Given the description of an element on the screen output the (x, y) to click on. 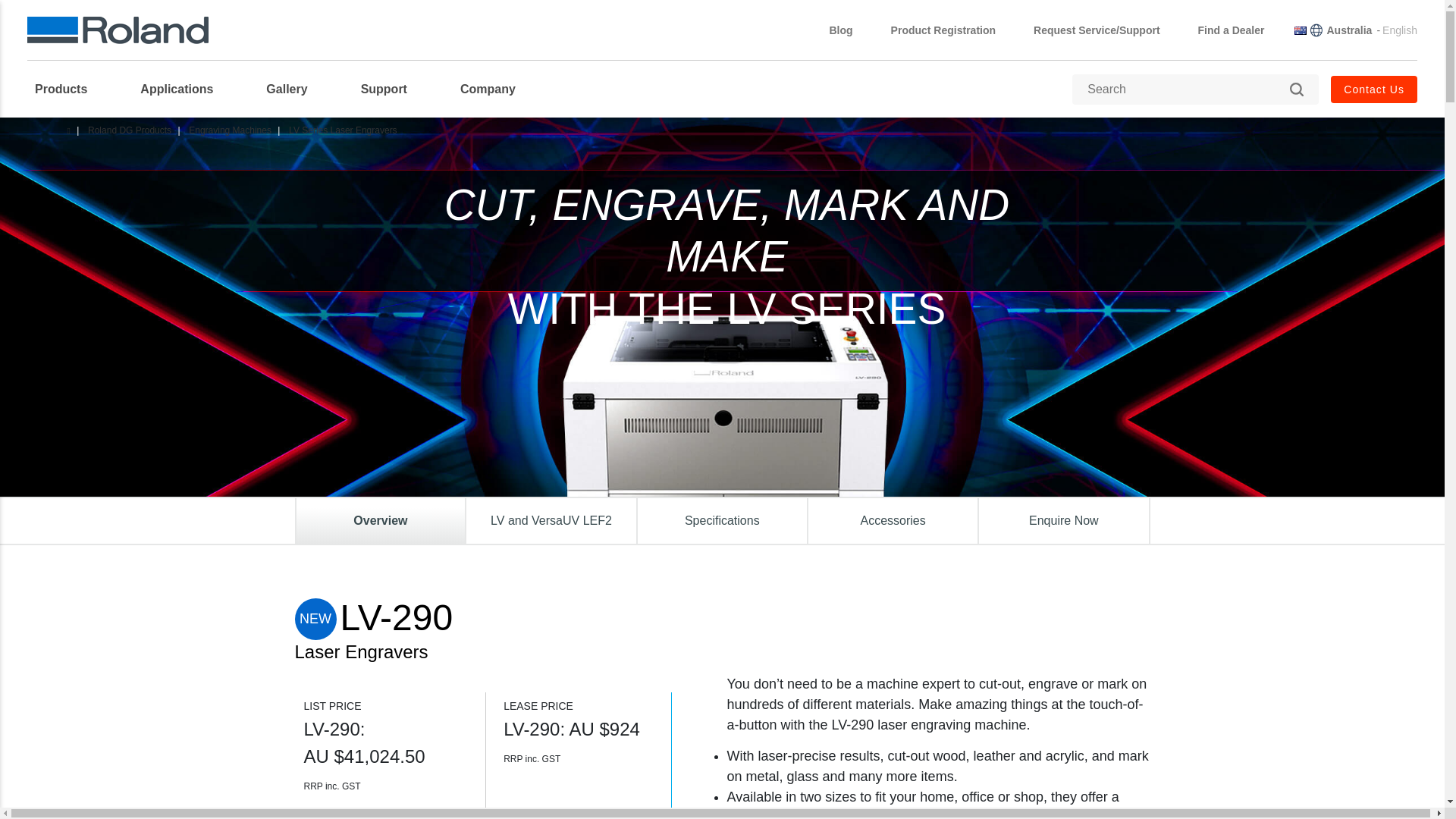
Australia (1348, 30)
Find a Dealer (1231, 30)
Products (68, 88)
Change country (1348, 30)
Blog (840, 30)
Product Registration (943, 30)
